Given the description of an element on the screen output the (x, y) to click on. 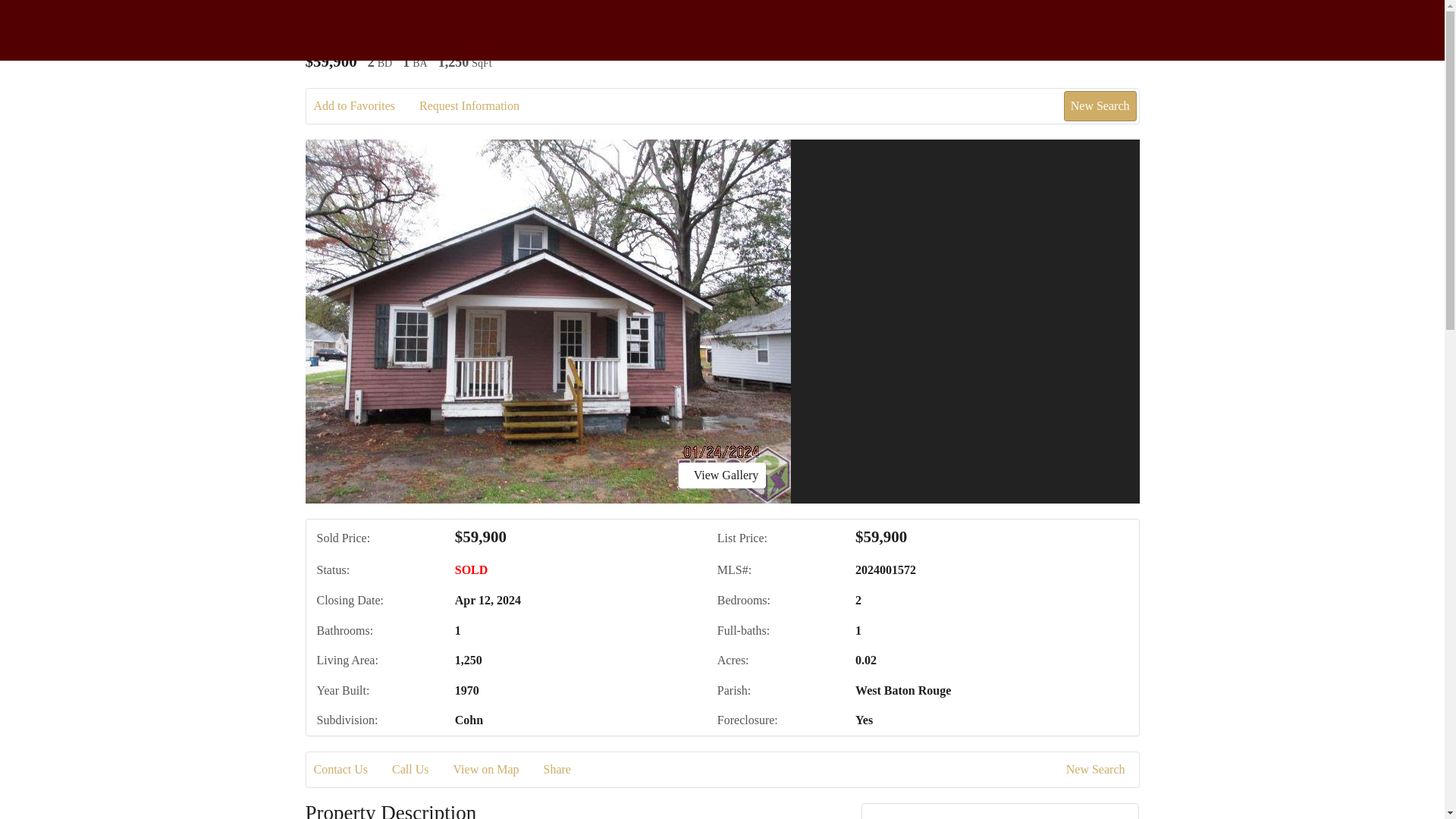
Call Us (420, 769)
View on Map (496, 769)
View Gallery (722, 475)
Add to Favorites (365, 106)
Request Information (479, 106)
New Search (1098, 769)
Contact Us (352, 769)
View Gallery (722, 474)
Share (567, 769)
New Search (1100, 105)
